Given the description of an element on the screen output the (x, y) to click on. 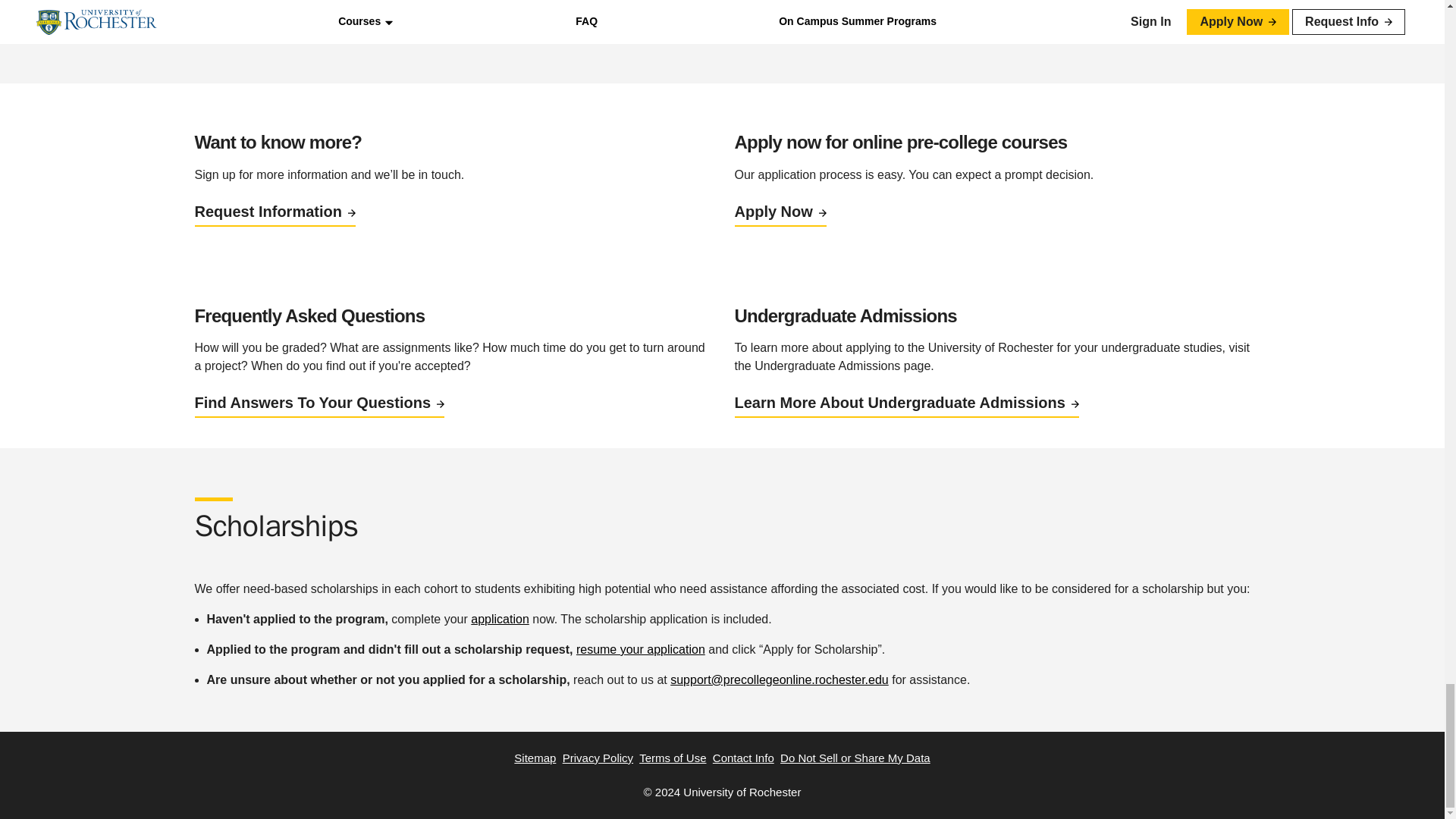
Do Not Sell or Share My Data (855, 757)
resume your application (640, 649)
Find Answers To Your Questions (318, 402)
Request Information (274, 211)
Apply Now (779, 211)
Terms of Use (672, 757)
Learn More About Undergraduate Admissions (905, 402)
Privacy Policy (597, 757)
application (499, 618)
Contact Info (743, 757)
Sitemap (534, 757)
